Given the description of an element on the screen output the (x, y) to click on. 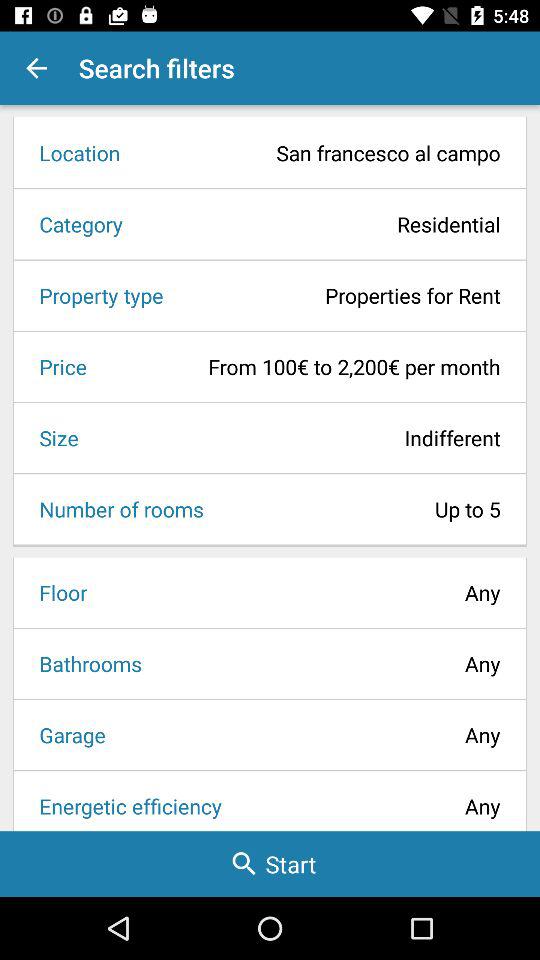
press icon to the right of the category (318, 224)
